Given the description of an element on the screen output the (x, y) to click on. 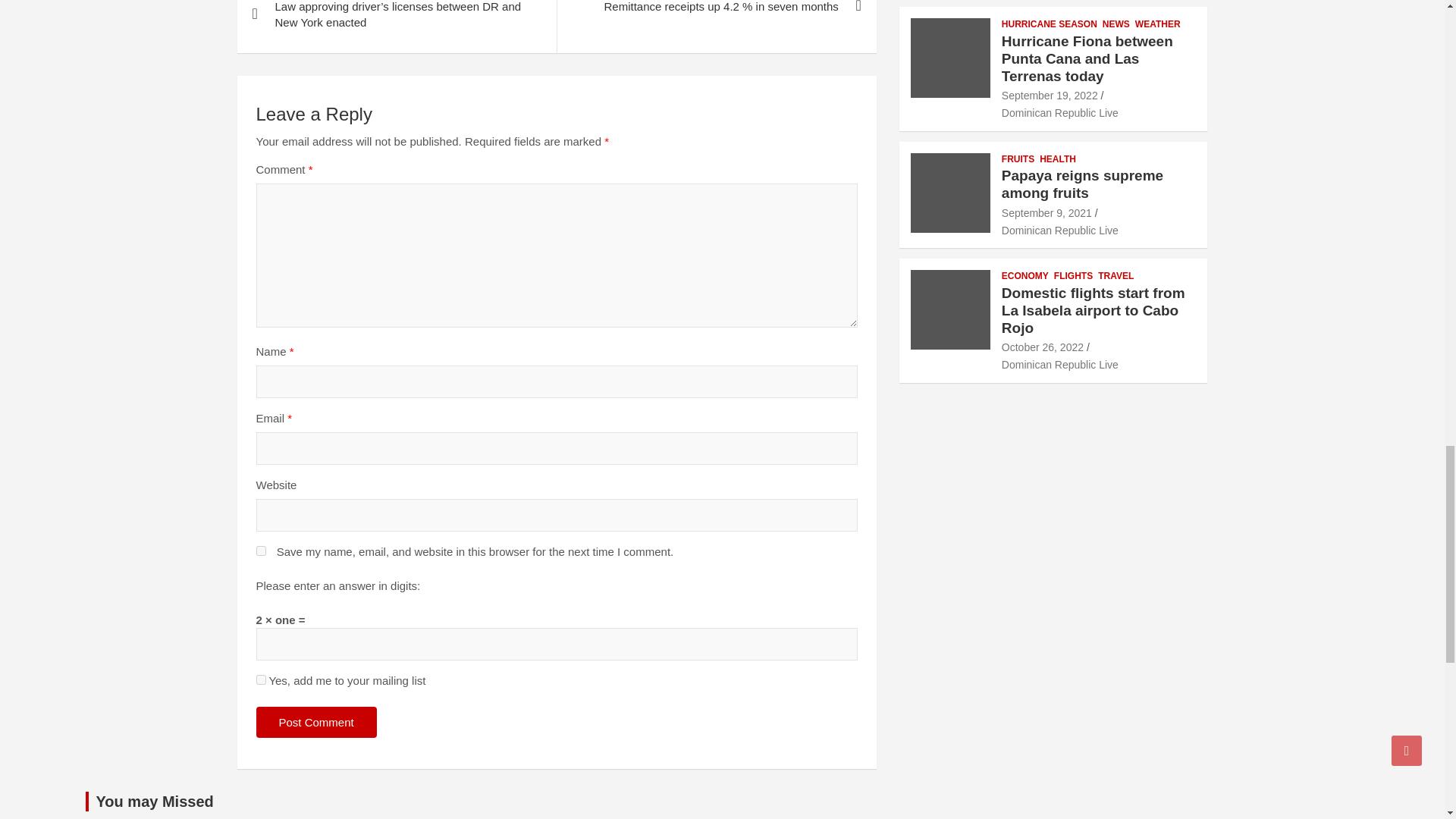
Post Comment (316, 721)
Hurricane Fiona between Punta Cana and Las Terrenas today (1049, 95)
Papaya reigns supreme among fruits (1046, 213)
yes (261, 551)
1 (261, 679)
Post Comment (316, 721)
Domestic flights start from La Isabela airport to Cabo Rojo (1042, 346)
